Given the description of an element on the screen output the (x, y) to click on. 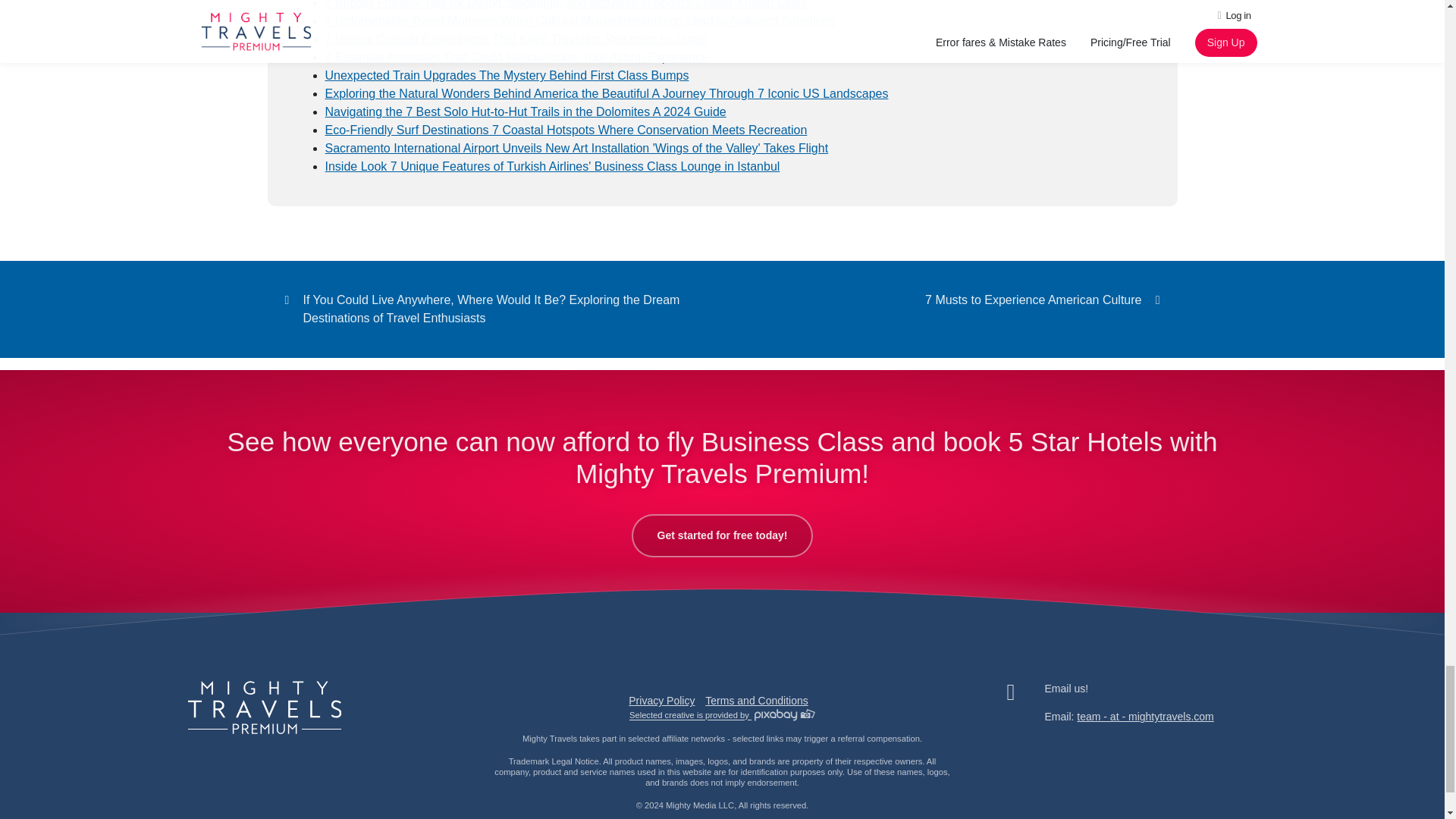
7 Musts to Experience American Culture (1045, 300)
